Given the description of an element on the screen output the (x, y) to click on. 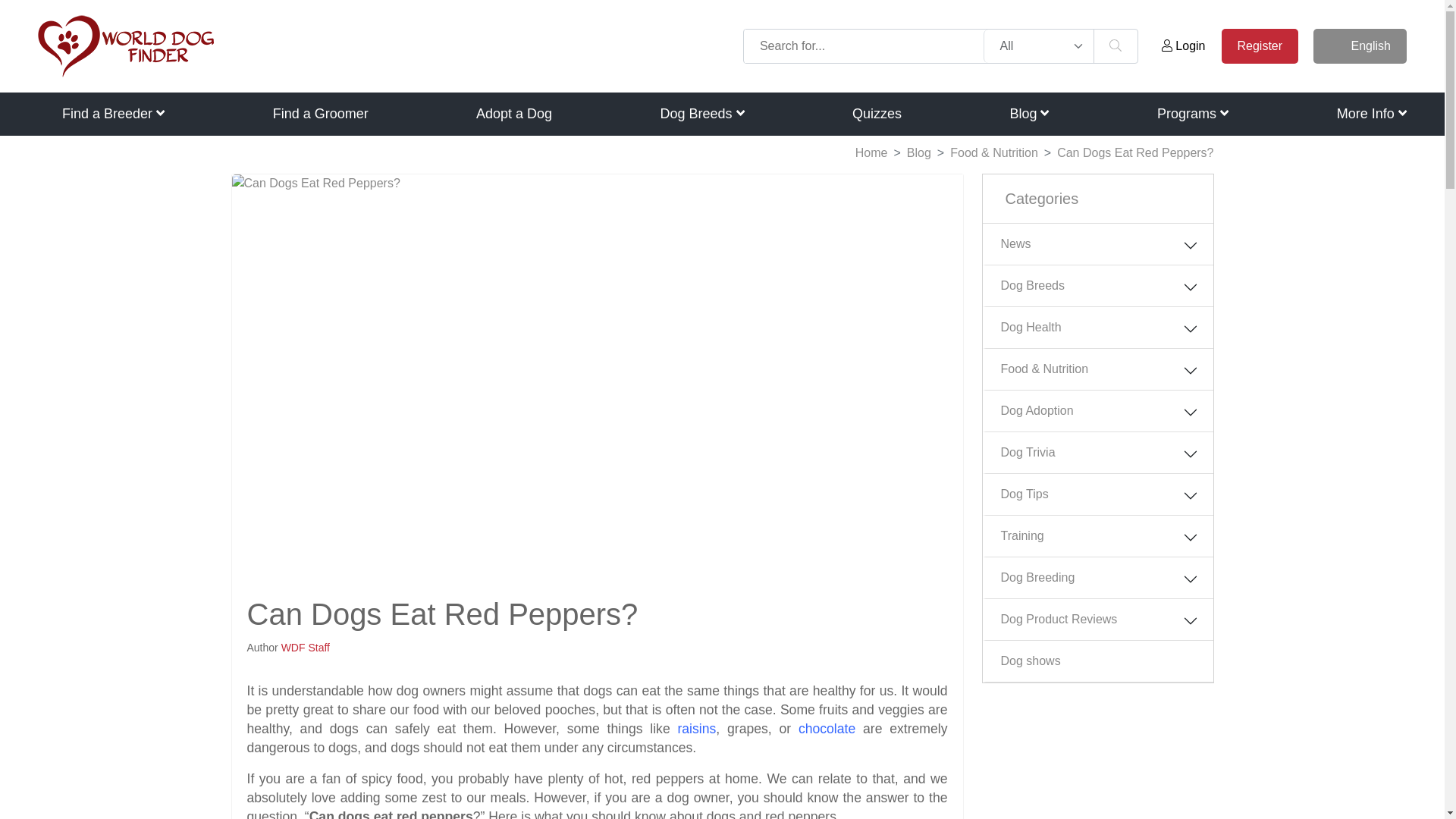
Find a Groomer (320, 113)
Blog (1028, 113)
Quizzes (876, 113)
Find a Breeder (113, 113)
English (1359, 45)
Dog Breeds (701, 113)
Register (1259, 45)
raisins (696, 728)
Adopt a Dog (513, 113)
Login (1183, 45)
chocolate (826, 728)
